Given the description of an element on the screen output the (x, y) to click on. 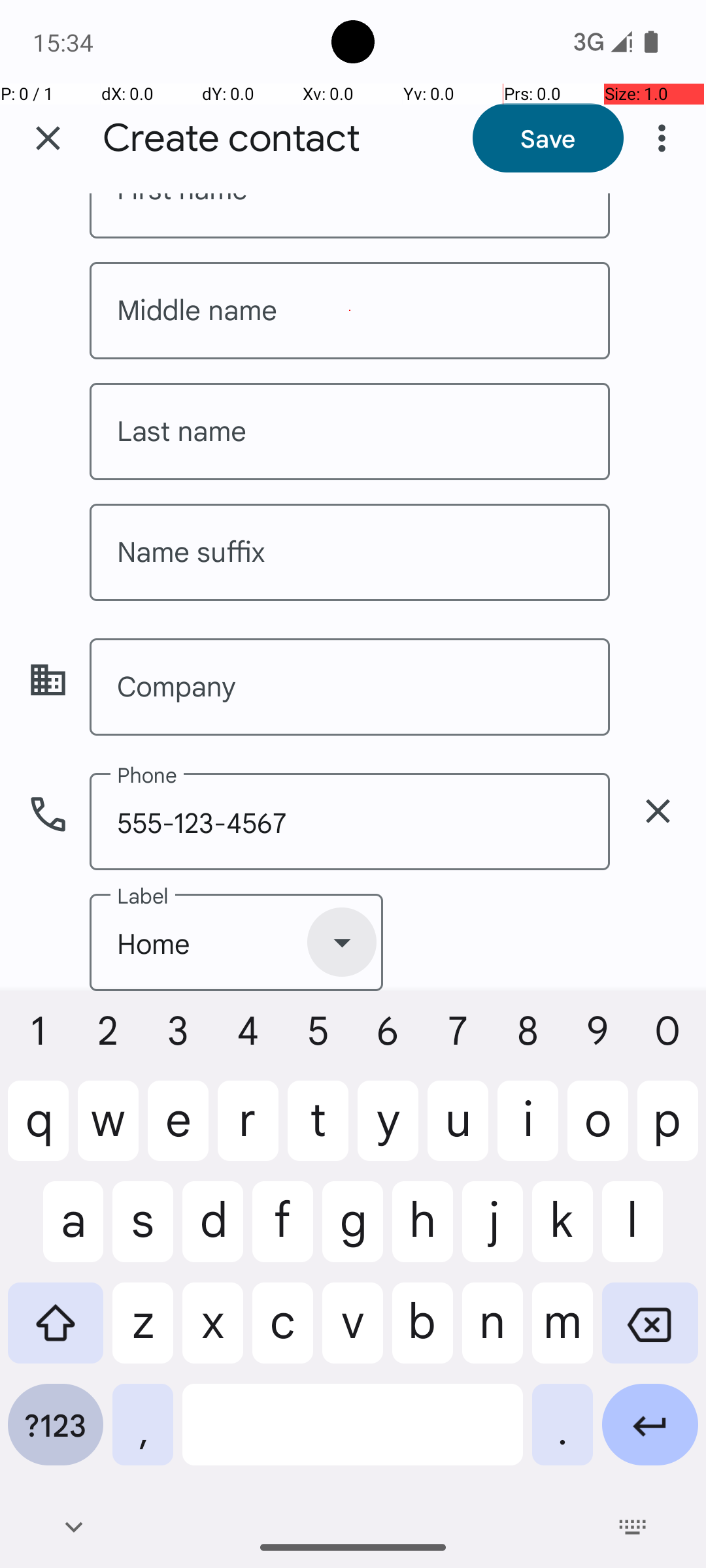
Create contact Element type: android.widget.TextView (231, 138)
Save Element type: android.widget.Button (547, 137)
First name Element type: android.widget.EditText (349, 215)
Middle name Element type: android.widget.EditText (349, 310)
Last name Element type: android.widget.EditText (349, 431)
Name suffix Element type: android.widget.EditText (349, 552)
Company Element type: android.widget.EditText (349, 686)
555-123-4567 Element type: android.widget.EditText (349, 821)
Show dropdown menu Element type: android.widget.ImageButton (341, 941)
Delete Home Phone Element type: android.widget.FrameLayout (657, 811)
delete Element type: android.widget.ImageView (657, 811)
Back Element type: android.widget.ImageView (73, 1526)
Switch input method Element type: android.widget.ImageView (632, 1526)
q Element type: android.widget.FrameLayout (38, 1130)
w Element type: android.widget.FrameLayout (108, 1130)
e Element type: android.widget.FrameLayout (178, 1130)
r Element type: android.widget.FrameLayout (248, 1130)
t Element type: android.widget.FrameLayout (318, 1130)
y Element type: android.widget.FrameLayout (387, 1130)
u Element type: android.widget.FrameLayout (457, 1130)
i Element type: android.widget.FrameLayout (527, 1130)
o Element type: android.widget.FrameLayout (597, 1130)
p Element type: android.widget.FrameLayout (667, 1130)
a Element type: android.widget.FrameLayout (55, 1231)
s Element type: android.widget.FrameLayout (142, 1231)
d Element type: android.widget.FrameLayout (212, 1231)
f Element type: android.widget.FrameLayout (282, 1231)
g Element type: android.widget.FrameLayout (352, 1231)
h Element type: android.widget.FrameLayout (422, 1231)
j Element type: android.widget.FrameLayout (492, 1231)
k Element type: android.widget.FrameLayout (562, 1231)
l Element type: android.widget.FrameLayout (649, 1231)
Shift Element type: android.widget.FrameLayout (55, 1332)
z Element type: android.widget.FrameLayout (142, 1332)
x Element type: android.widget.FrameLayout (212, 1332)
c Element type: android.widget.FrameLayout (282, 1332)
v Element type: android.widget.FrameLayout (352, 1332)
b Element type: android.widget.FrameLayout (422, 1332)
n Element type: android.widget.FrameLayout (492, 1332)
m Element type: android.widget.FrameLayout (562, 1332)
Symbol keyboard Element type: android.widget.FrameLayout (55, 1434)
, Element type: android.widget.FrameLayout (142, 1434)
Space Element type: android.widget.FrameLayout (352, 1434)
. Element type: android.widget.FrameLayout (562, 1434)
Enter Element type: android.widget.FrameLayout (649, 1434)
